Given the description of an element on the screen output the (x, y) to click on. 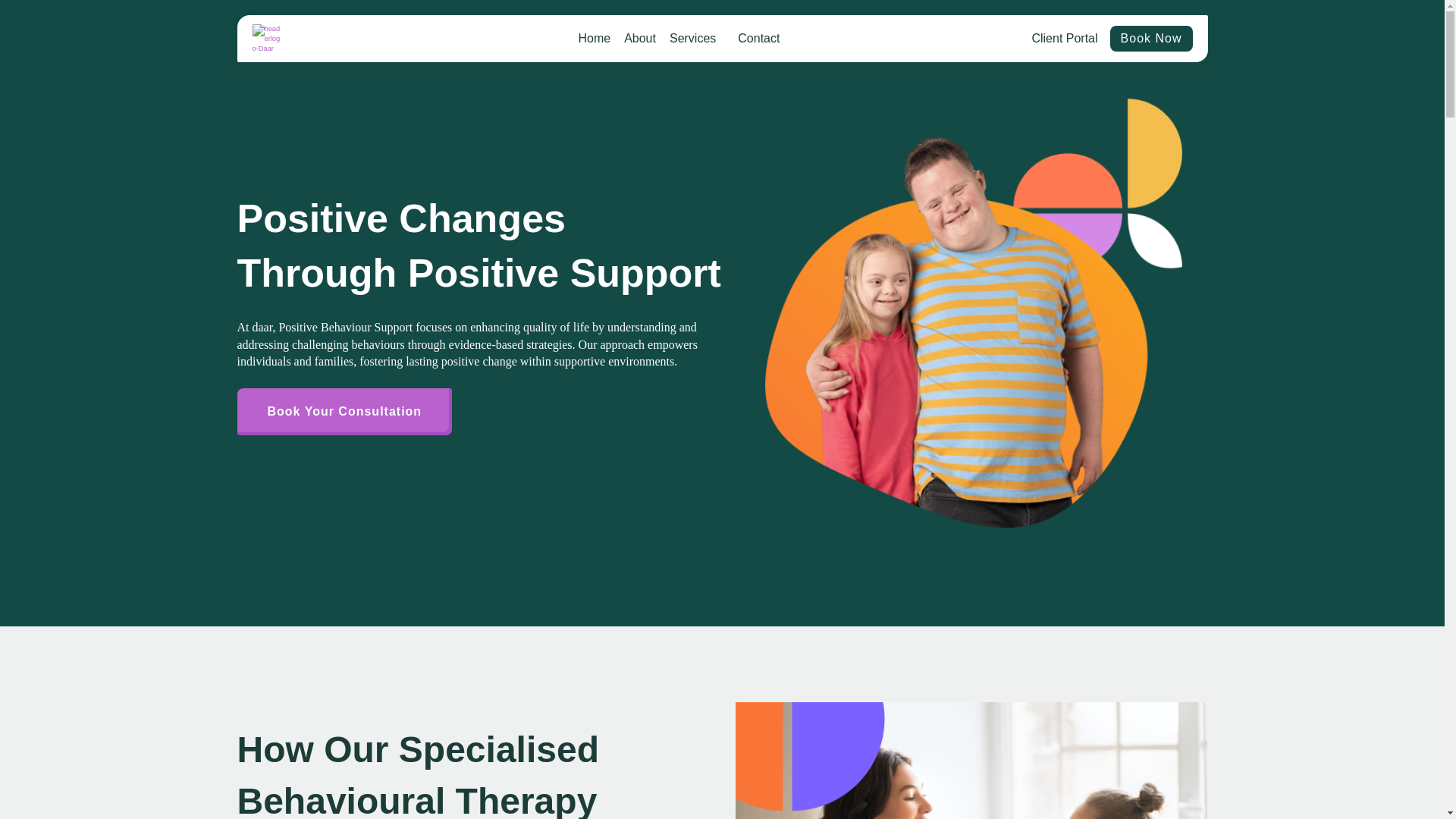
Home (593, 38)
Client Portal (1063, 38)
Services (696, 38)
Book Your Consultation (343, 411)
Book Now (1150, 38)
About (639, 38)
Contact (758, 38)
